Given the description of an element on the screen output the (x, y) to click on. 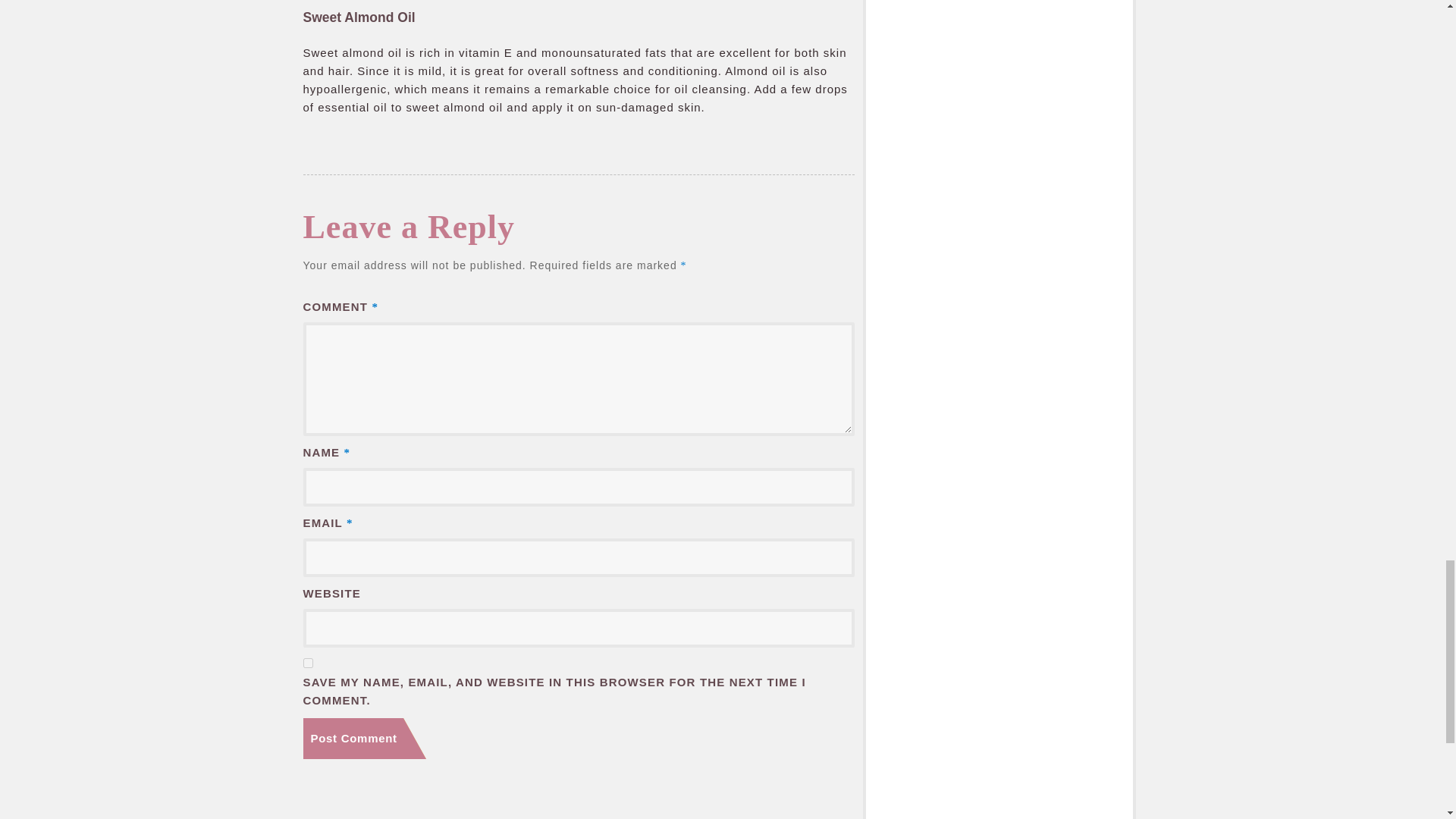
Post Comment (364, 738)
yes (307, 663)
Post Comment (364, 738)
